Given the description of an element on the screen output the (x, y) to click on. 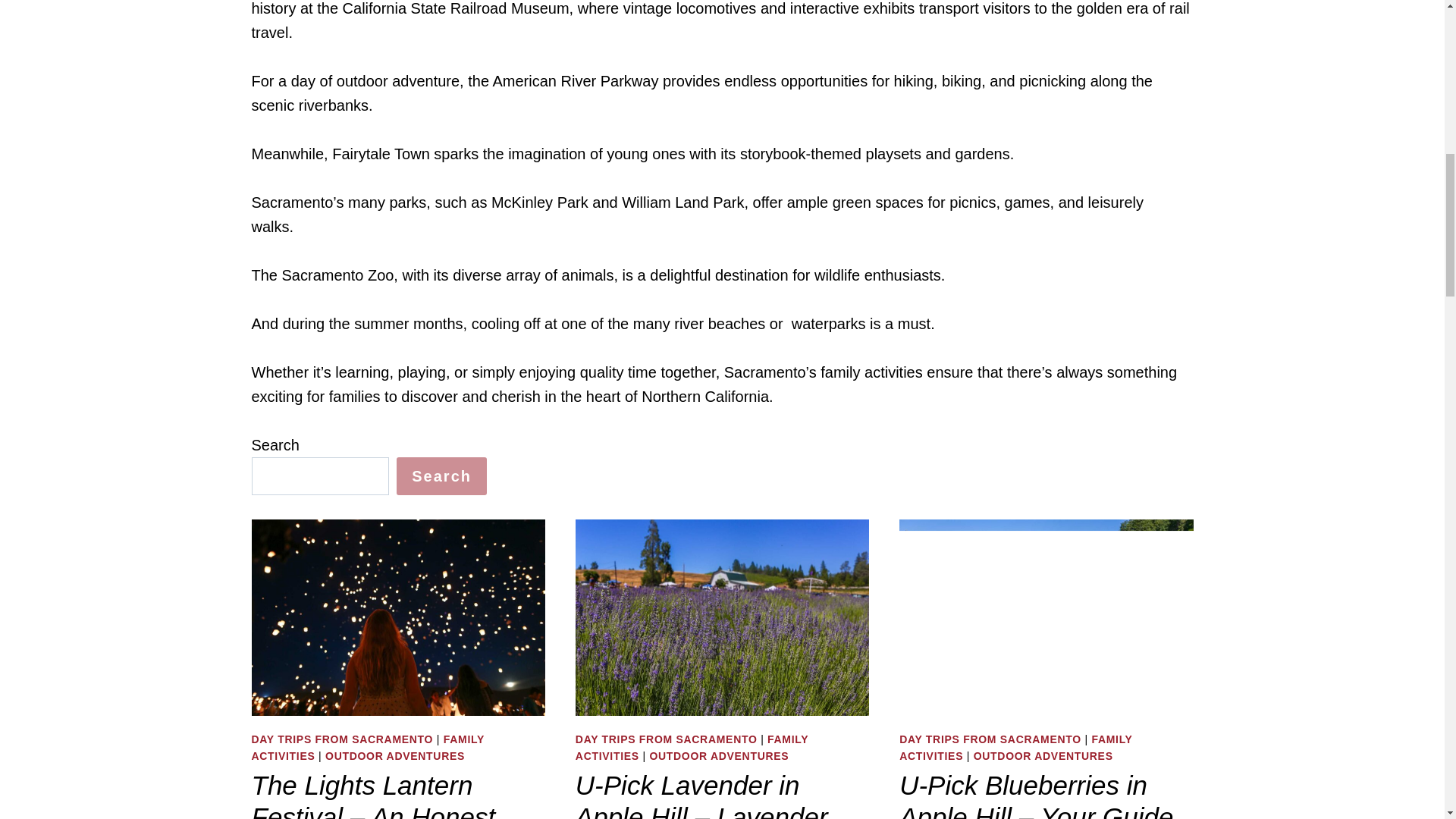
FAMILY ACTIVITIES (367, 747)
DAY TRIPS FROM SACRAMENTO (990, 739)
FAMILY ACTIVITIES (1015, 747)
FAMILY ACTIVITIES (691, 747)
OUTDOOR ADVENTURES (1043, 756)
DAY TRIPS FROM SACRAMENTO (342, 739)
DAY TRIPS FROM SACRAMENTO (666, 739)
OUTDOOR ADVENTURES (719, 756)
OUTDOOR ADVENTURES (394, 756)
Search (441, 476)
